Given the description of an element on the screen output the (x, y) to click on. 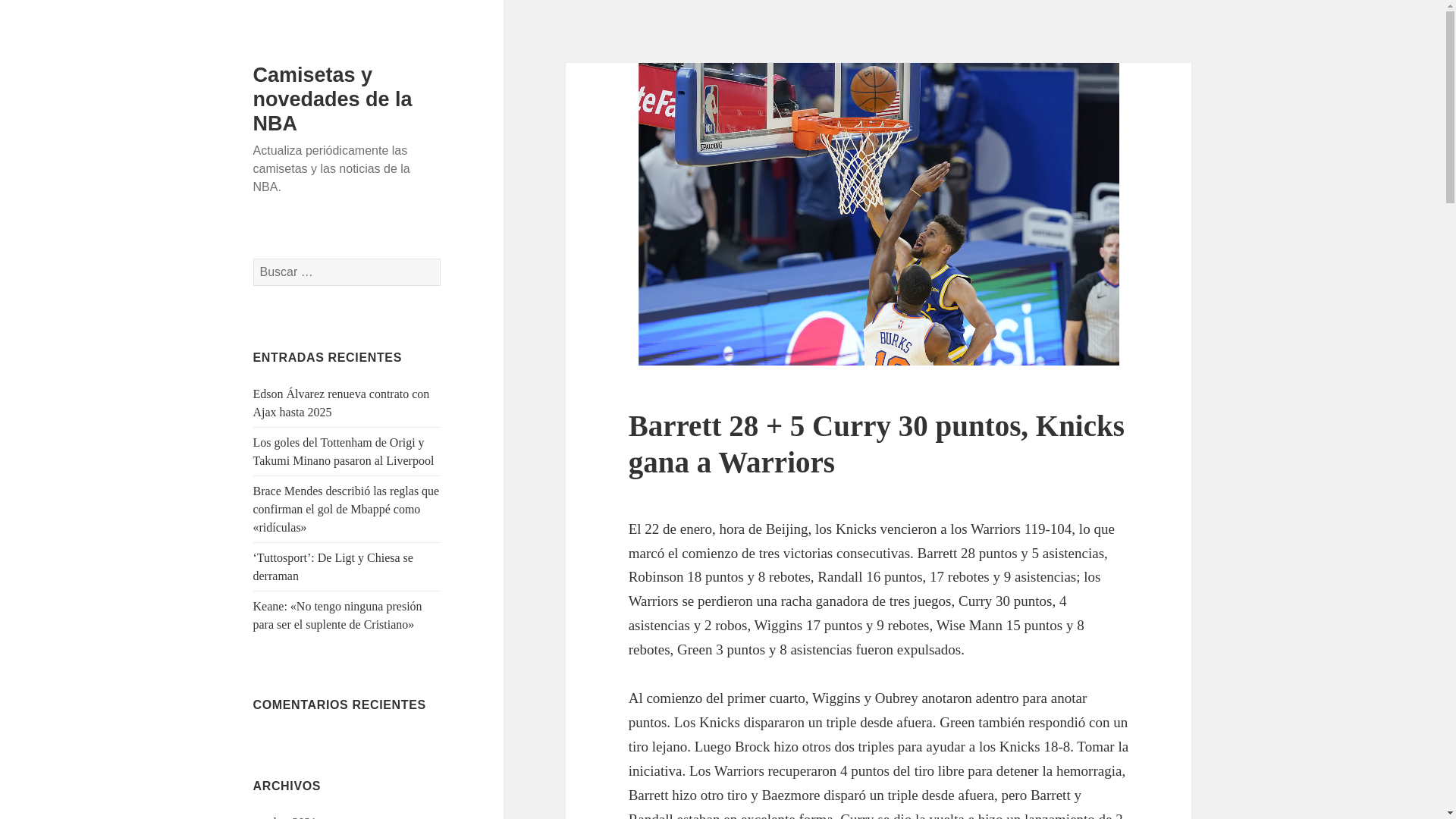
Camisetas y novedades de la NBA Element type: text (332, 98)
Buscar Element type: text (440, 258)
